Given the description of an element on the screen output the (x, y) to click on. 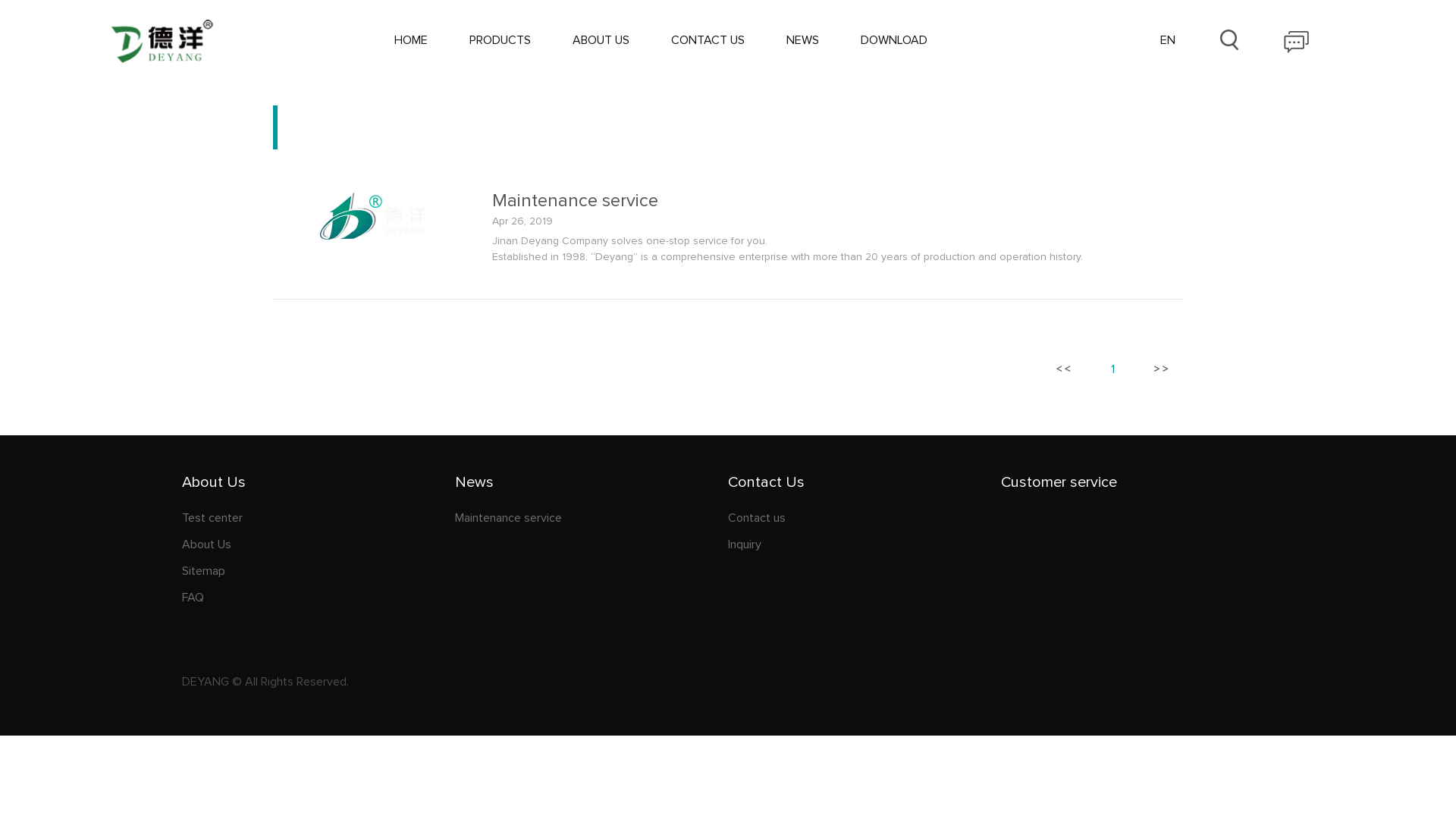
DOWNLOAD Element type: text (893, 39)
CONTACT US Element type: text (707, 39)
FAQ Element type: text (318, 597)
About Us Element type: text (318, 544)
PRODUCTS Element type: text (499, 39)
Sitemap Element type: text (318, 570)
Maintenance service Element type: hover (373, 239)
Maintenance service Element type: text (591, 517)
Inquiry Element type: text (864, 544)
ABOUT US Element type: text (600, 39)
Test center Element type: text (318, 517)
HOME Element type: text (410, 39)
Maintenance service Element type: text (837, 200)
NEWS Element type: text (802, 39)
Contact us Element type: text (864, 517)
